Given the description of an element on the screen output the (x, y) to click on. 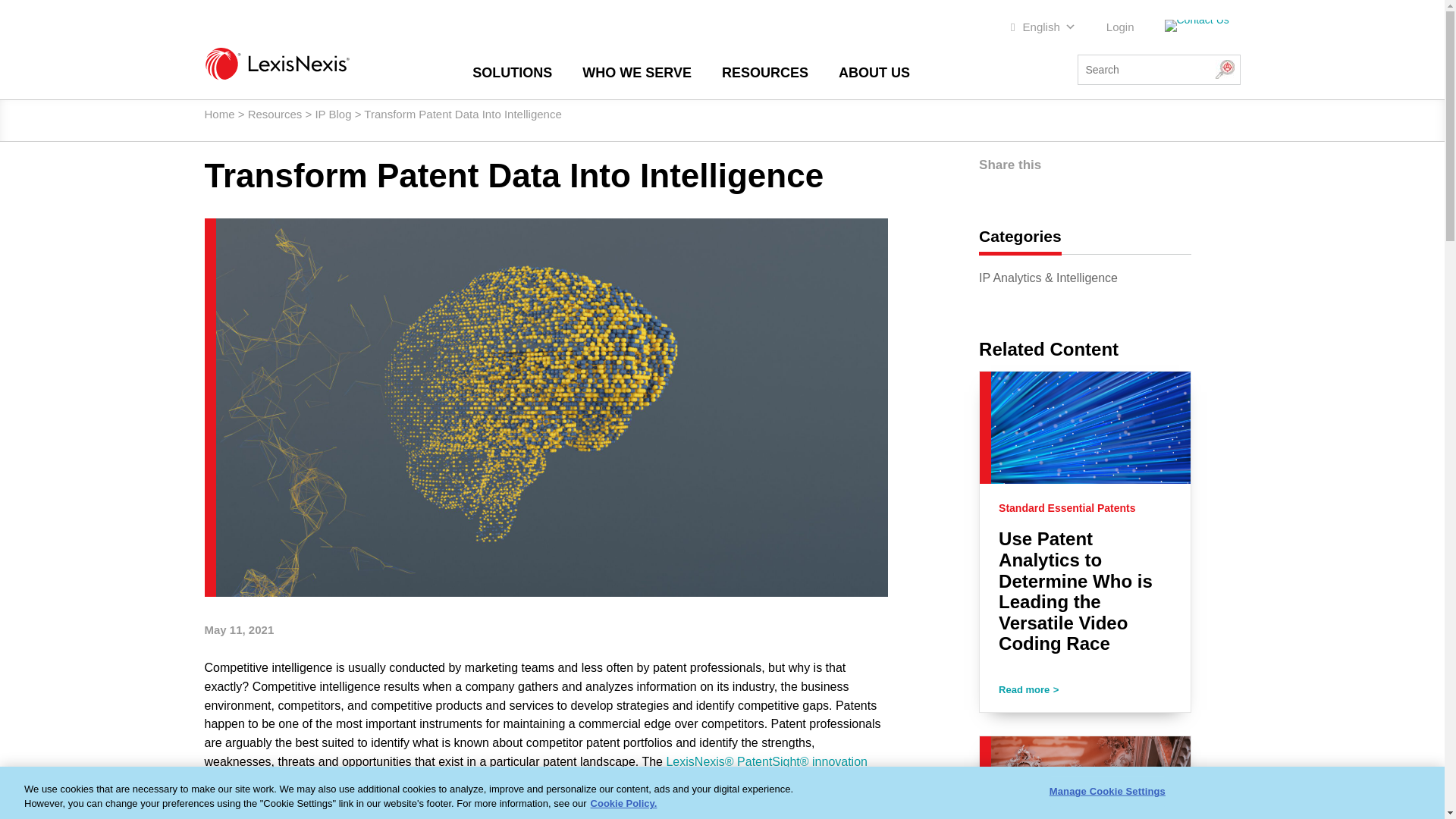
English (1042, 27)
RESOURCES (765, 72)
WHO WE SERVE (636, 72)
Login (1120, 27)
SOLUTIONS (511, 72)
English (1042, 27)
